Given the description of an element on the screen output the (x, y) to click on. 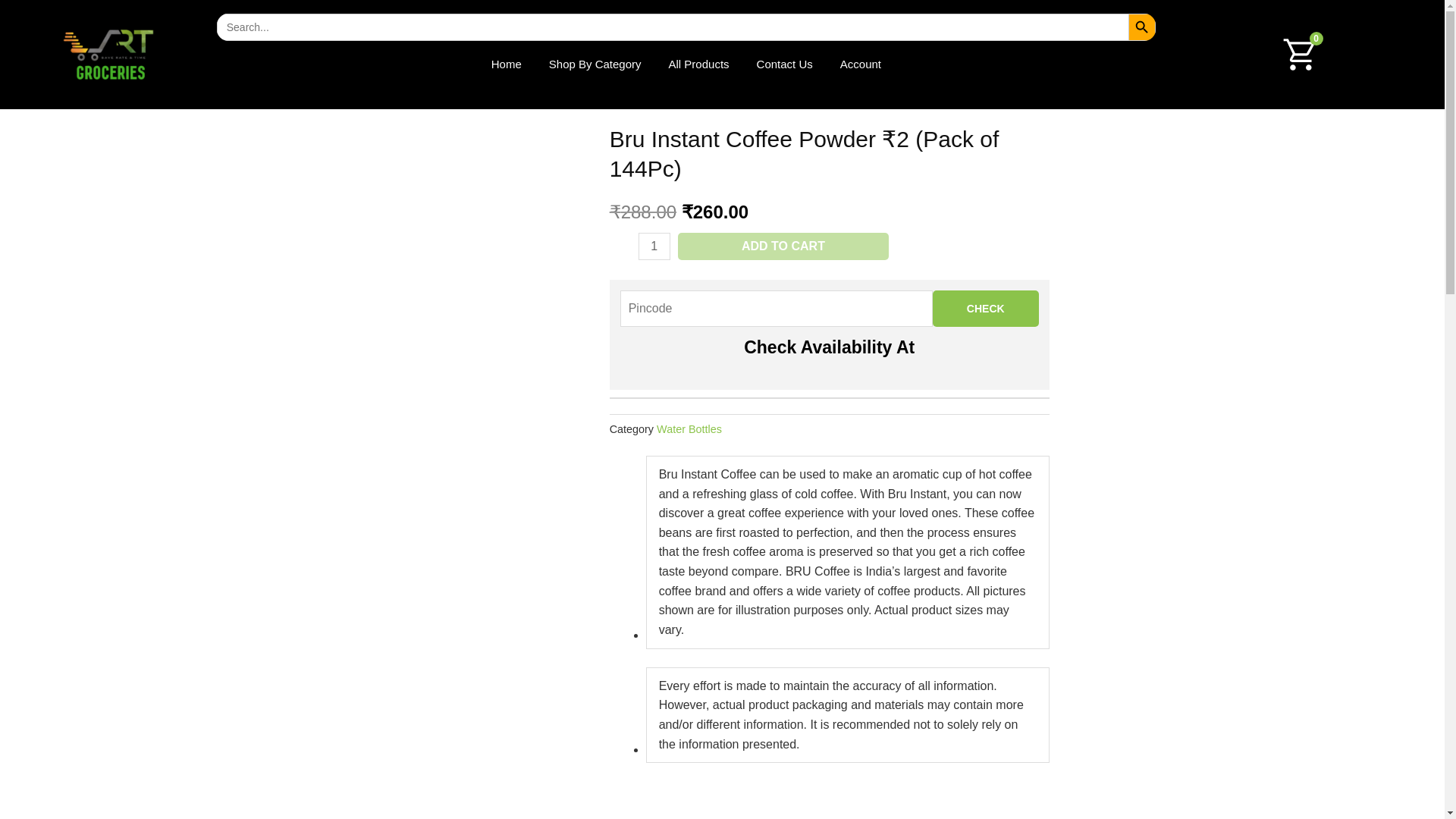
Home (506, 64)
1 (654, 246)
Check (986, 308)
SEARCH BUTTON (1142, 26)
Shop By Category (595, 64)
